Given the description of an element on the screen output the (x, y) to click on. 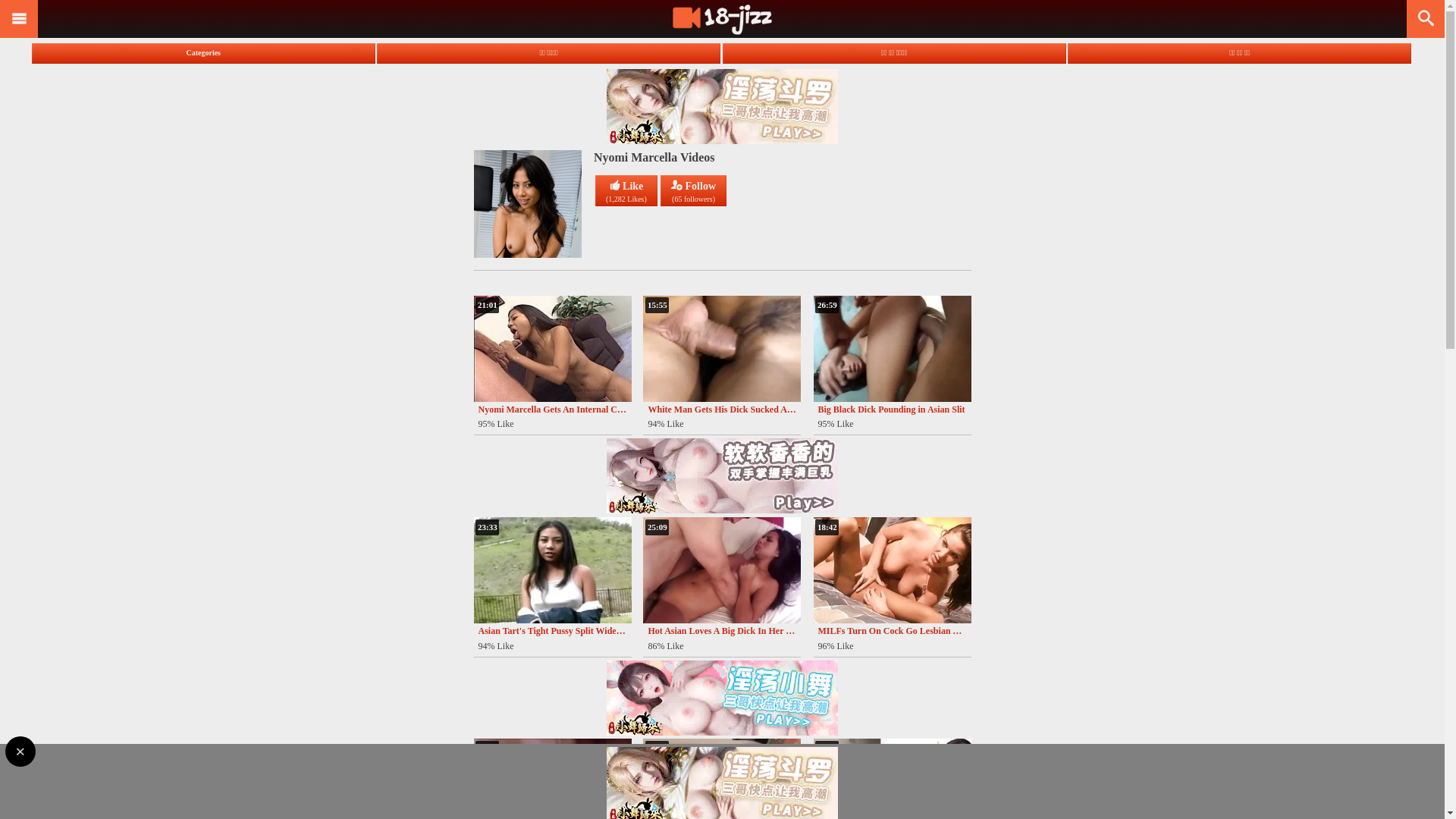
18:42 Element type: text (891, 570)
Asian Tart's Tight Pussy Split Wide Open Element type: text (551, 631)
Nyomi Marcella Gets An Internal Cumshot Element type: text (551, 409)
26:59 Element type: text (891, 348)
Categories Element type: text (203, 53)
21:01 Element type: text (551, 348)
Hot Asian Loves A Big Dick In Her Pussy Element type: text (721, 631)
23:33 Element type: text (551, 570)
Follow
(65 followers) Element type: text (693, 190)
MILFs Turn On Cock Go Lesbian Together Element type: text (891, 631)
Big Black Dick Pounding in Asian Slit Element type: text (891, 409)
25:09 Element type: text (721, 570)
Like
(1,282 Likes) Element type: text (626, 190)
15:55 Element type: text (721, 348)
White Man Gets His Dick Sucked And Fucked By An Asian Woman Element type: text (721, 409)
